Given the description of an element on the screen output the (x, y) to click on. 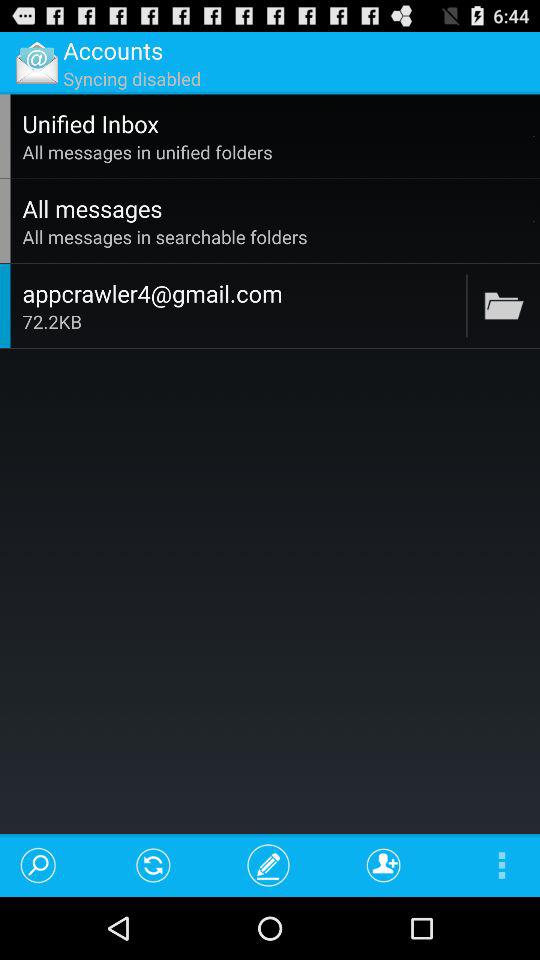
tap item next to all messages app (533, 220)
